Given the description of an element on the screen output the (x, y) to click on. 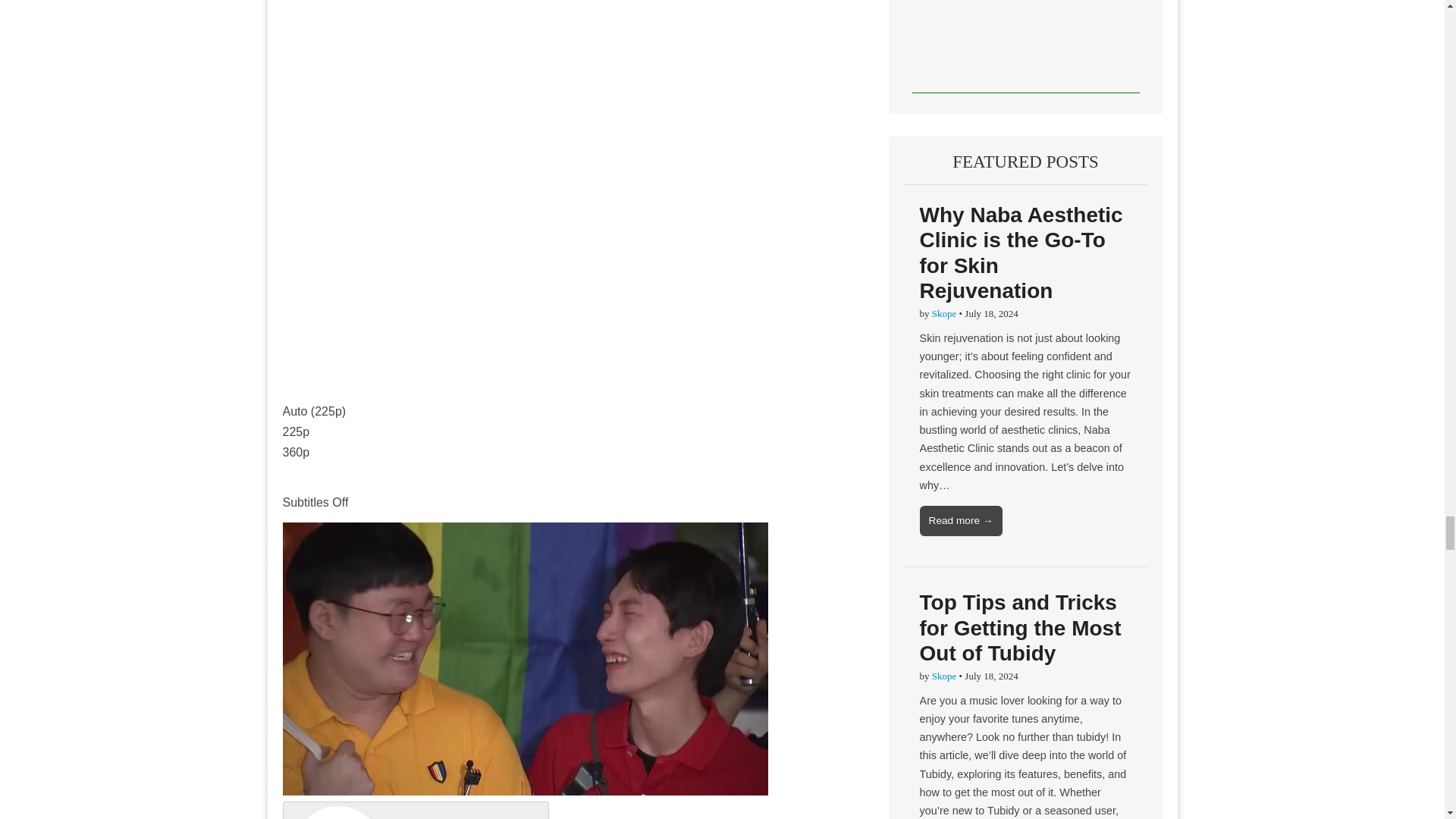
Posts by Skope (943, 313)
Posts by Skope (943, 675)
